Given the description of an element on the screen output the (x, y) to click on. 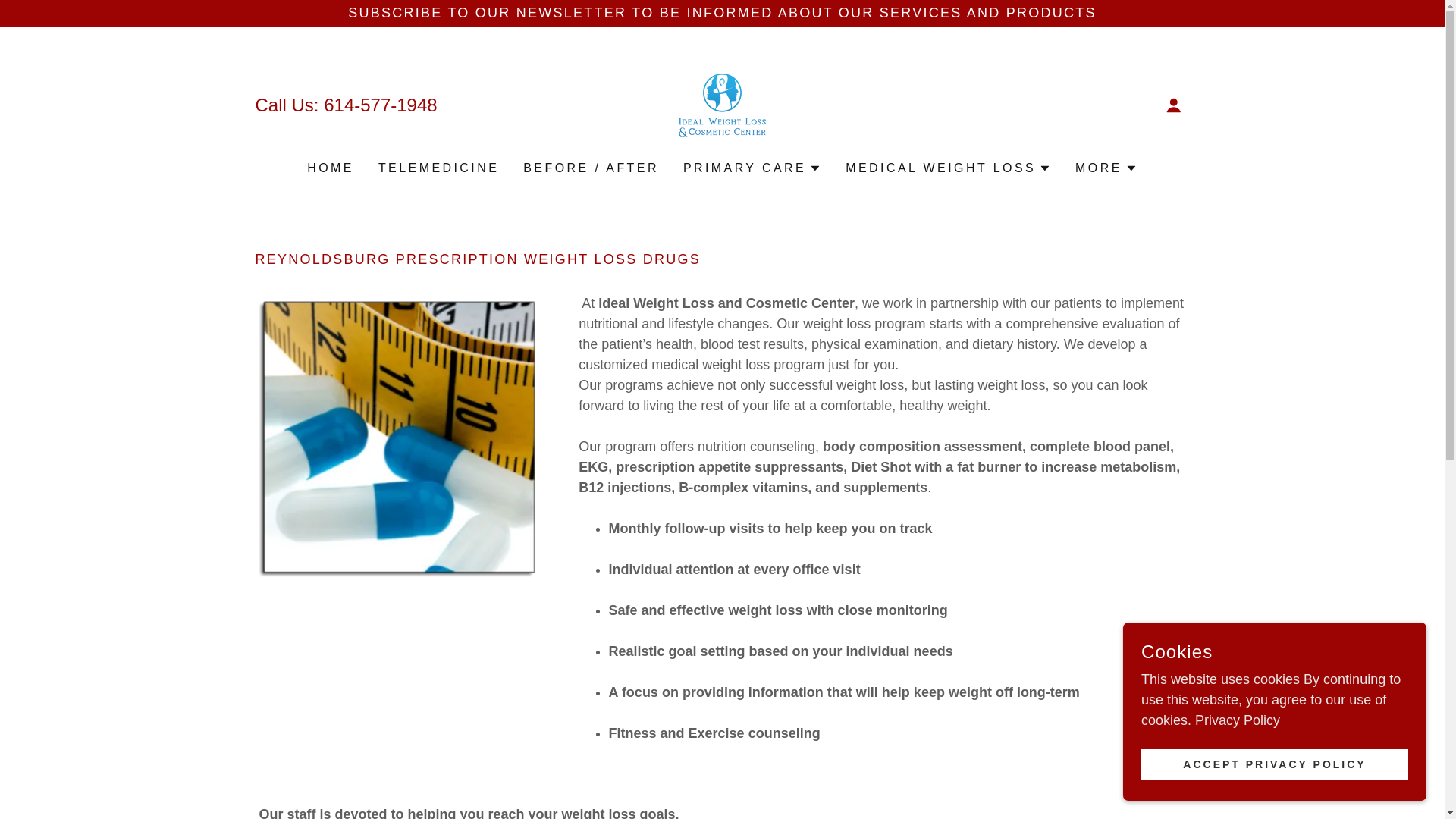
614-577-1948 (379, 104)
PRIMARY CARE (751, 167)
TELEMEDICINE (438, 167)
Provisional slimmerimage (722, 103)
MEDICAL WEIGHT LOSS (948, 167)
HOME (330, 167)
